Given the description of an element on the screen output the (x, y) to click on. 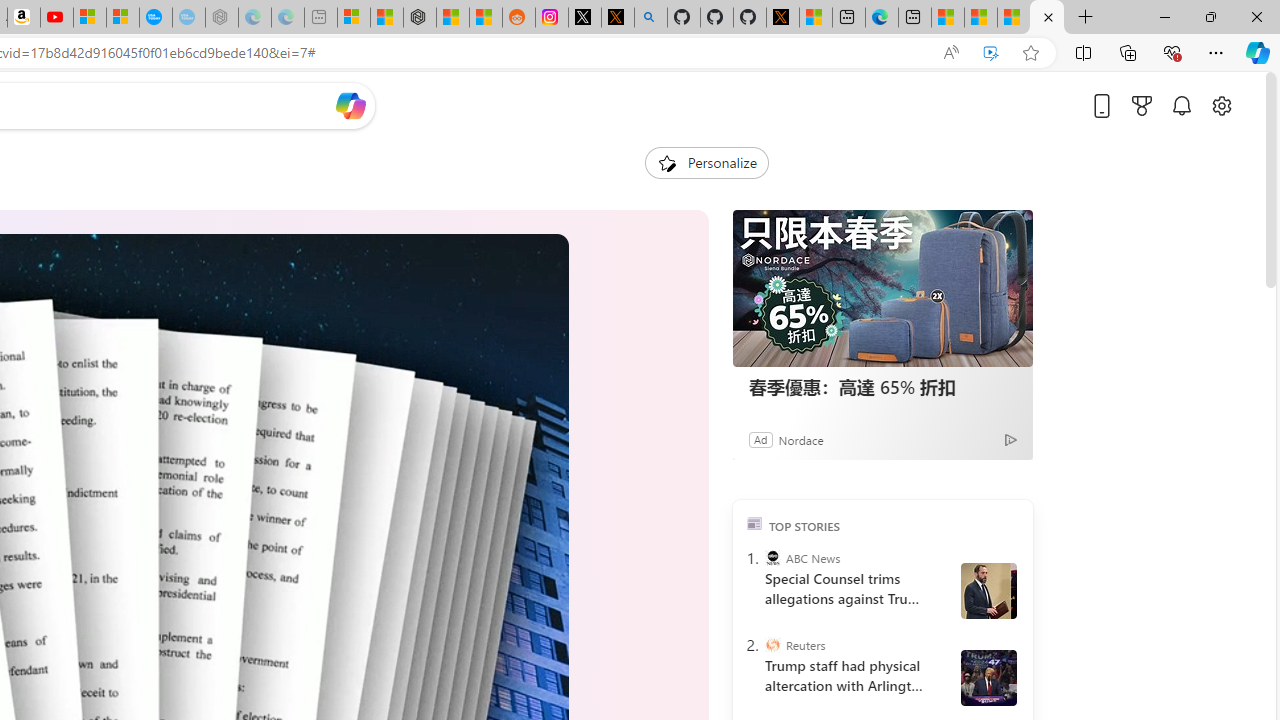
Enhance video (991, 53)
github - Search (650, 17)
The most popular Google 'how to' searches - Sleeping (188, 17)
ABC News (772, 557)
Nordace - Nordace has arrived Hong Kong - Sleeping (222, 17)
